Given the description of an element on the screen output the (x, y) to click on. 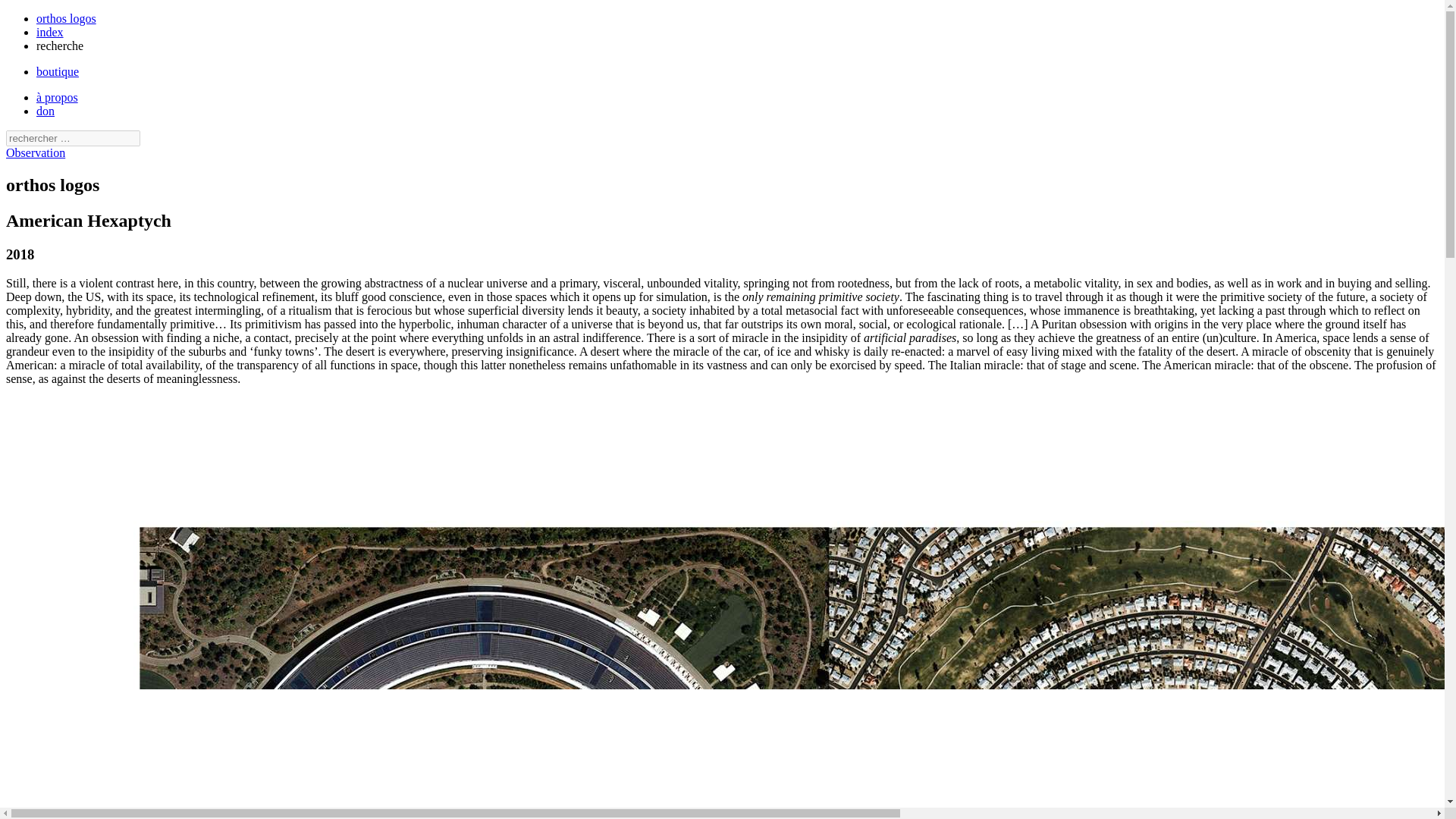
boutique (57, 71)
orthos logos (66, 18)
index (50, 31)
Observation (35, 152)
don (45, 110)
